Given the description of an element on the screen output the (x, y) to click on. 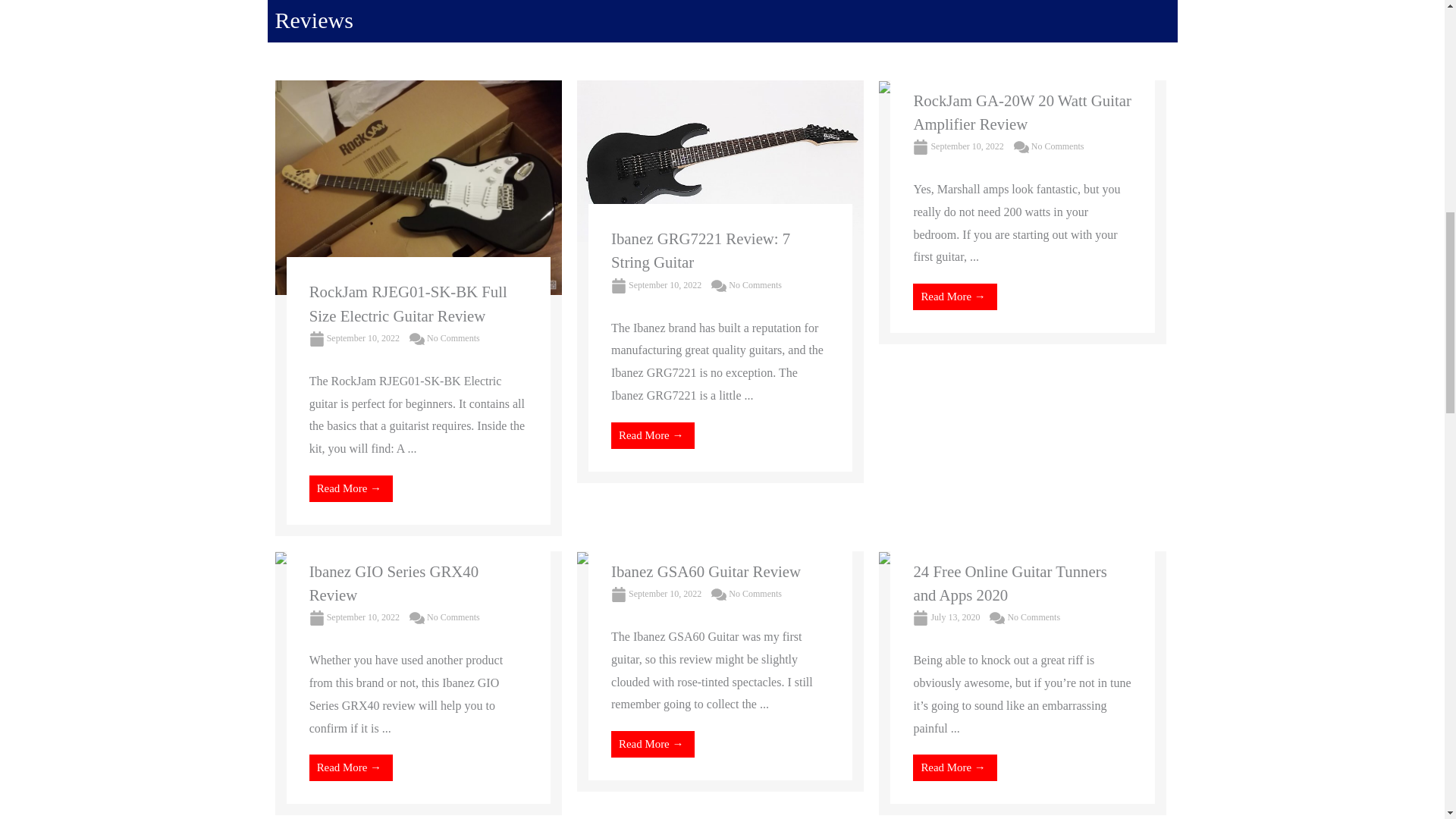
RockJam GA-20W 20 Watt Guitar Amplifier Review (1021, 111)
24 Free Online Guitar Tunners and Apps 2020 (980, 562)
Ibanez GSA60 Guitar Review (705, 570)
Ibanez GIO Series GRX40 Review (345, 562)
Ibanez GRG7221 Review: 7 String Guitar (719, 159)
RockJam RJEG01-SK-BK Full Size Electric Guitar Review (407, 302)
RockJam GA-20W 20 Watt Guitar Amplifier Review (932, 91)
Ibanez GIO Series GRX40 Review (393, 582)
Ibanez GSA60 Guitar Review (654, 562)
24 Free Online Guitar Tunners and Apps 2020 (1009, 582)
Ibanez GRG7221 Review: 7 String Guitar (700, 250)
RockJam RJEG01-SK-BK Full Size Electric Guitar Review (417, 185)
